Given the description of an element on the screen output the (x, y) to click on. 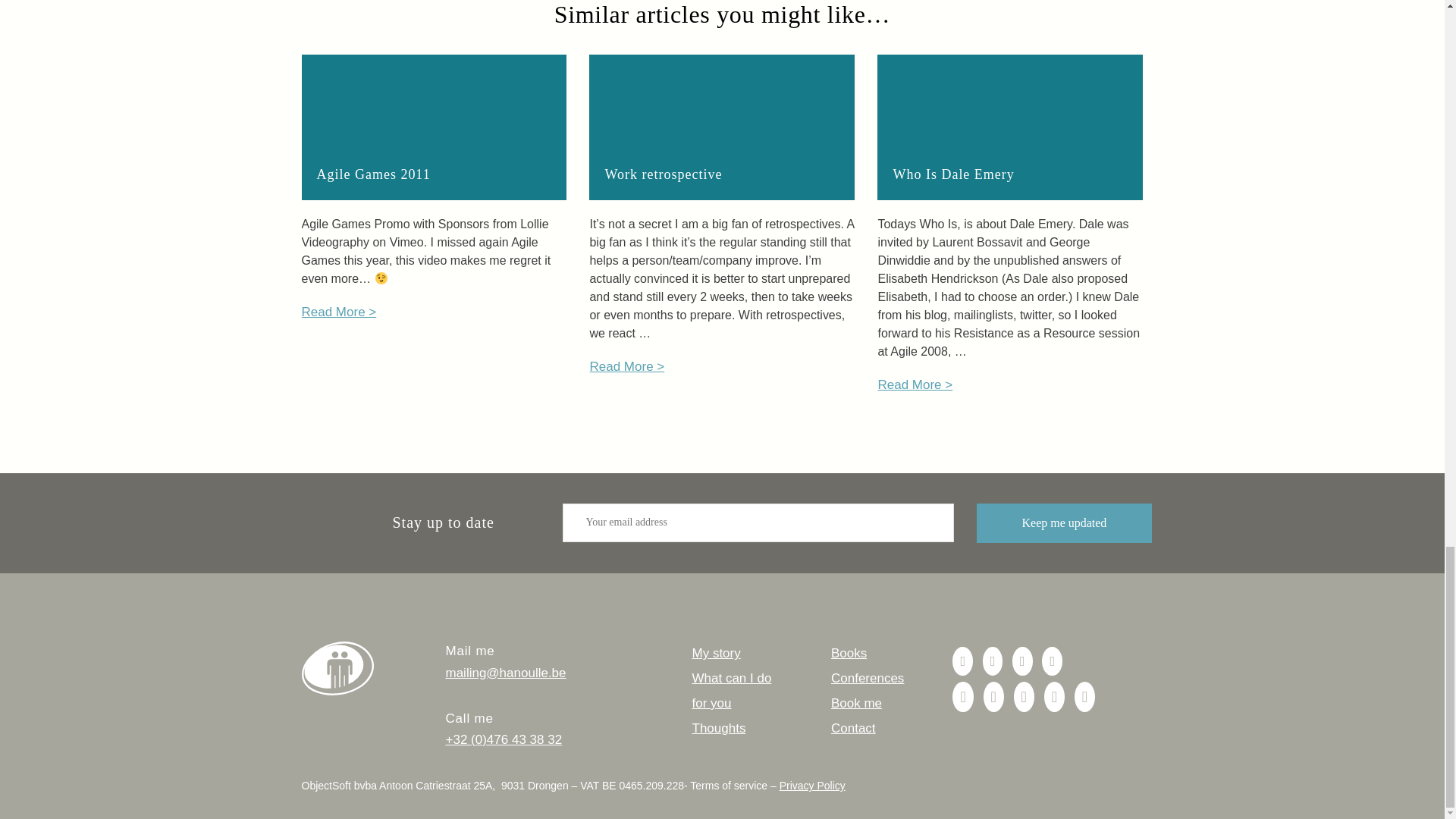
My story (715, 653)
Book me (856, 703)
Keep me updated (1064, 522)
Contact (853, 728)
What can I do for you (731, 690)
Thoughts (718, 728)
Conferences (867, 677)
Books (848, 653)
